Given the description of an element on the screen output the (x, y) to click on. 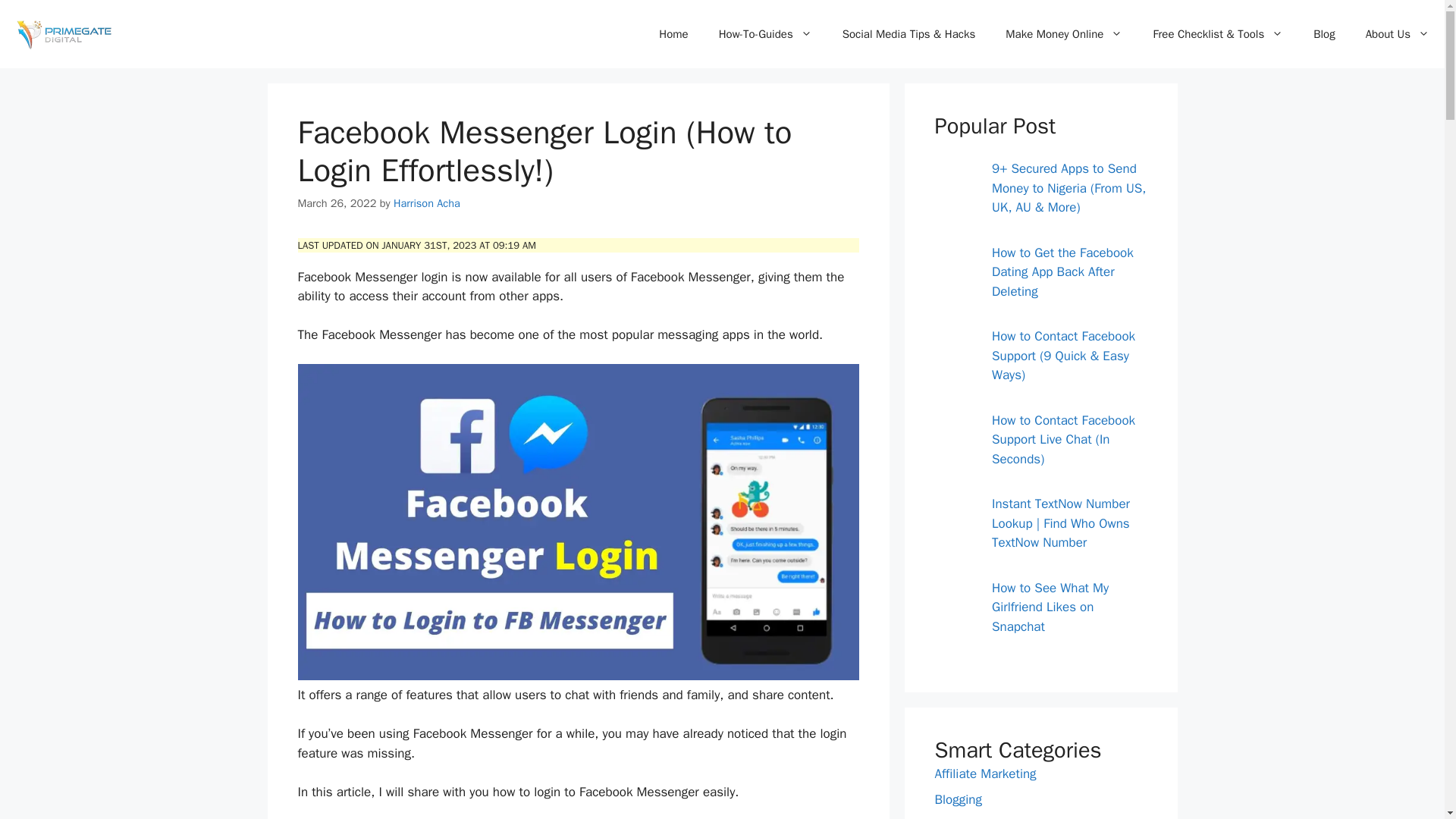
View all posts by Harrison Acha (426, 202)
How to Get the Facebook Dating App Back After Deleting (953, 270)
How-To-Guides (765, 33)
Home (673, 33)
Primegate Digital (61, 33)
Blog (1323, 33)
How to See What My Girlfriend Likes on Snapchat (953, 606)
Make Money Online (1063, 33)
Harrison Acha (426, 202)
